Given the description of an element on the screen output the (x, y) to click on. 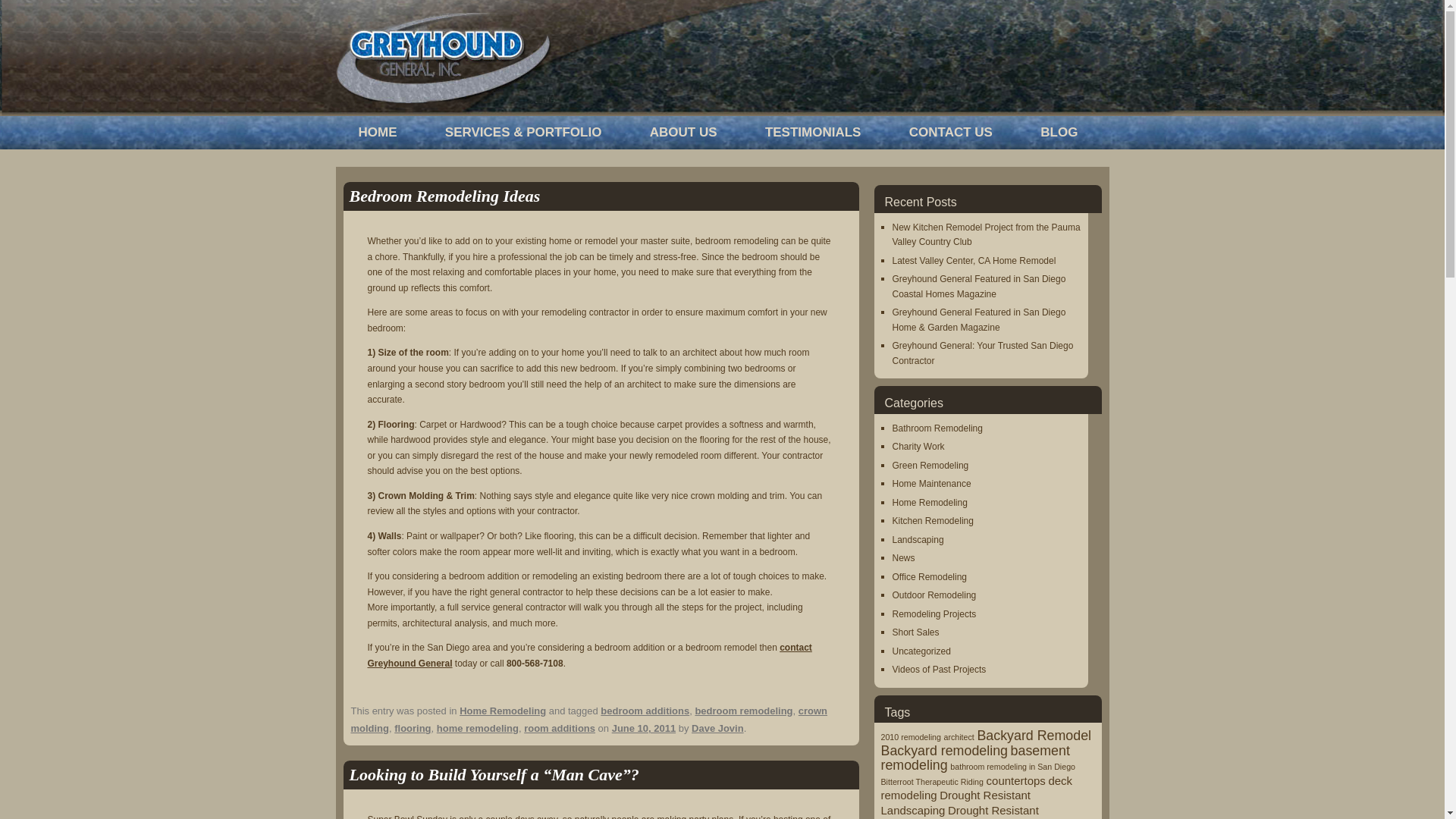
Home Maintenance (931, 483)
Green Remodeling (929, 465)
BLOG (1059, 132)
View all posts by Dave Jovin (717, 727)
Short Sales (915, 632)
basement remodeling (975, 757)
architect (958, 737)
2010 remodeling (910, 737)
Remodeling Projects (933, 614)
Uncategorized (920, 651)
Kitchen Remodeling (931, 520)
Videos of Past Projects (938, 669)
ABOUT US (683, 132)
HOME (377, 132)
Bathroom Remodeling (936, 428)
